Given the description of an element on the screen output the (x, y) to click on. 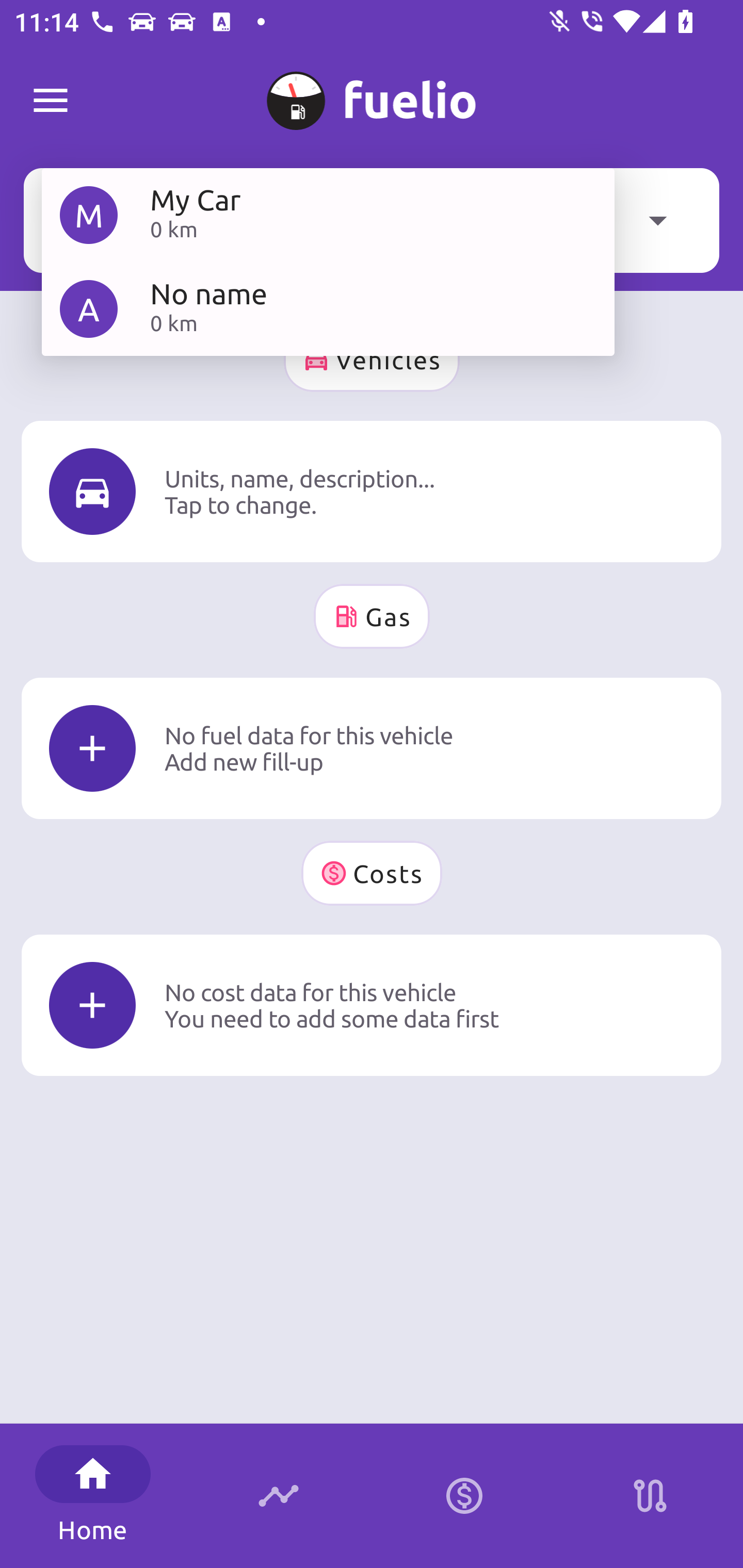
M My Car 0 km (327, 214)
A No name 0 km (327, 308)
